Given the description of an element on the screen output the (x, y) to click on. 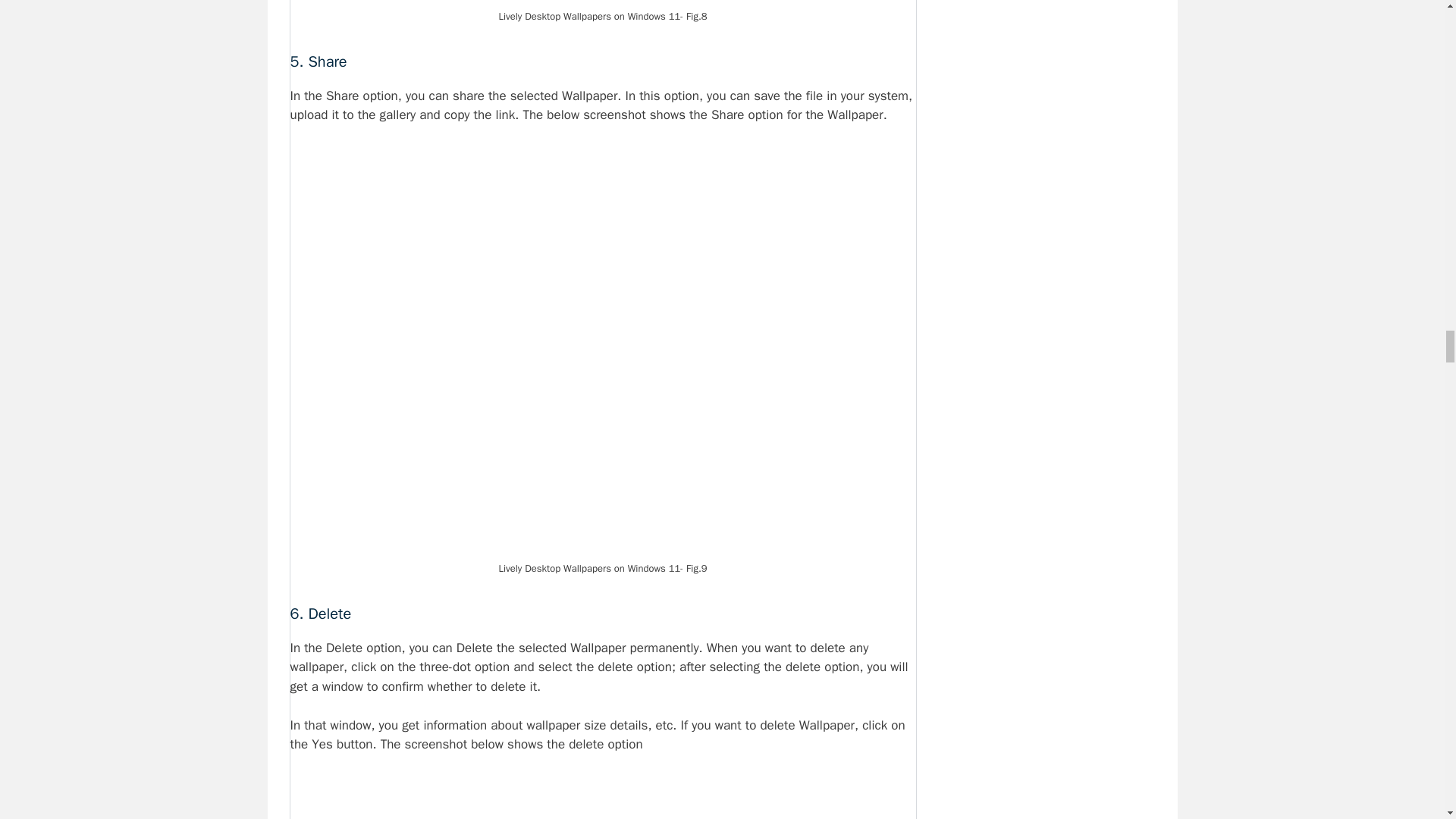
Lively Desktop Wallpapers on Windows 11 9 (602, 2)
Lively Desktop Wallpapers on Windows 11 11 (602, 796)
